Given the description of an element on the screen output the (x, y) to click on. 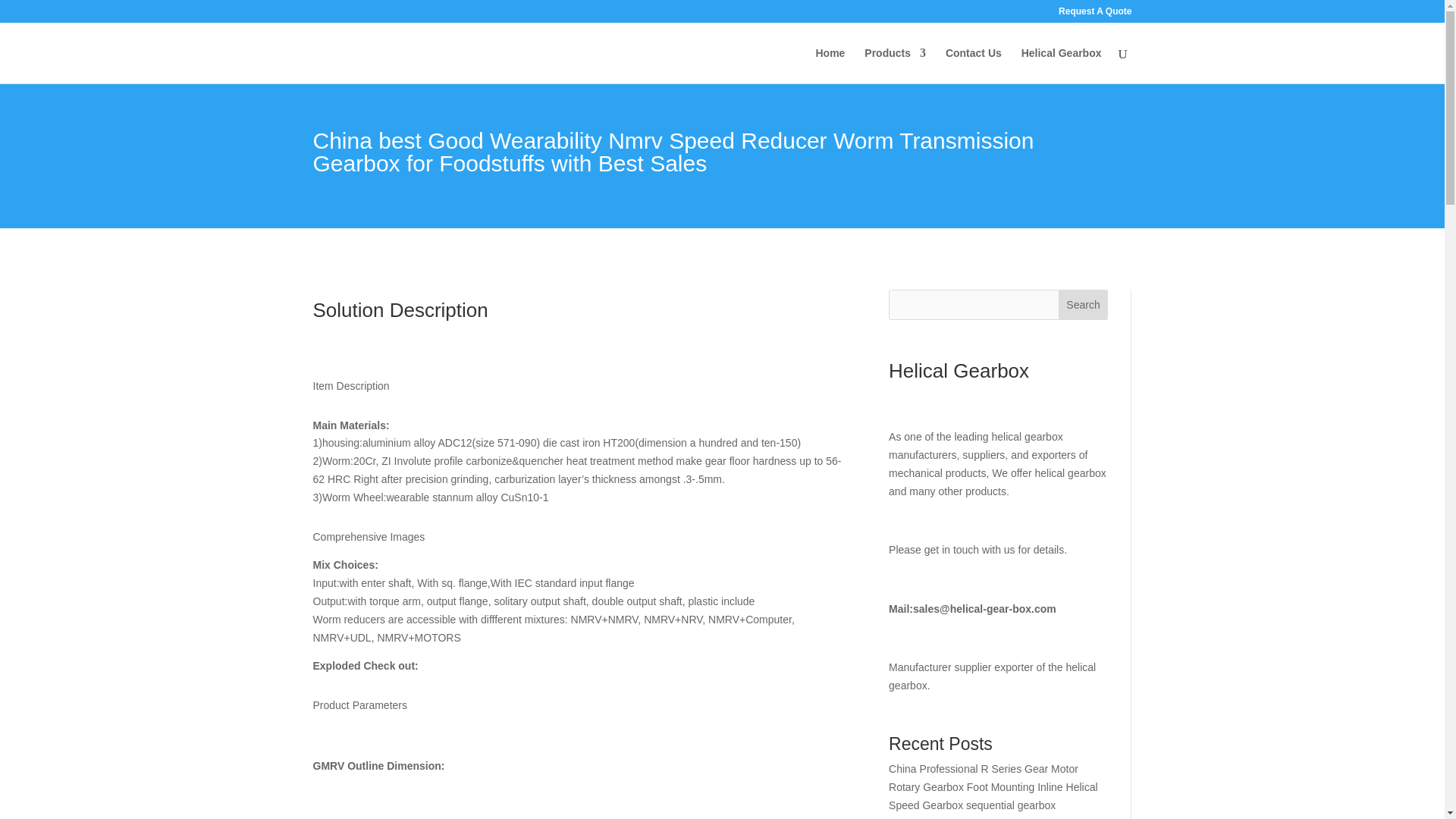
Search (1083, 304)
Products (895, 65)
Helical Gearbox (1062, 65)
Request A Quote (1094, 14)
Contact Us (972, 65)
